Given the description of an element on the screen output the (x, y) to click on. 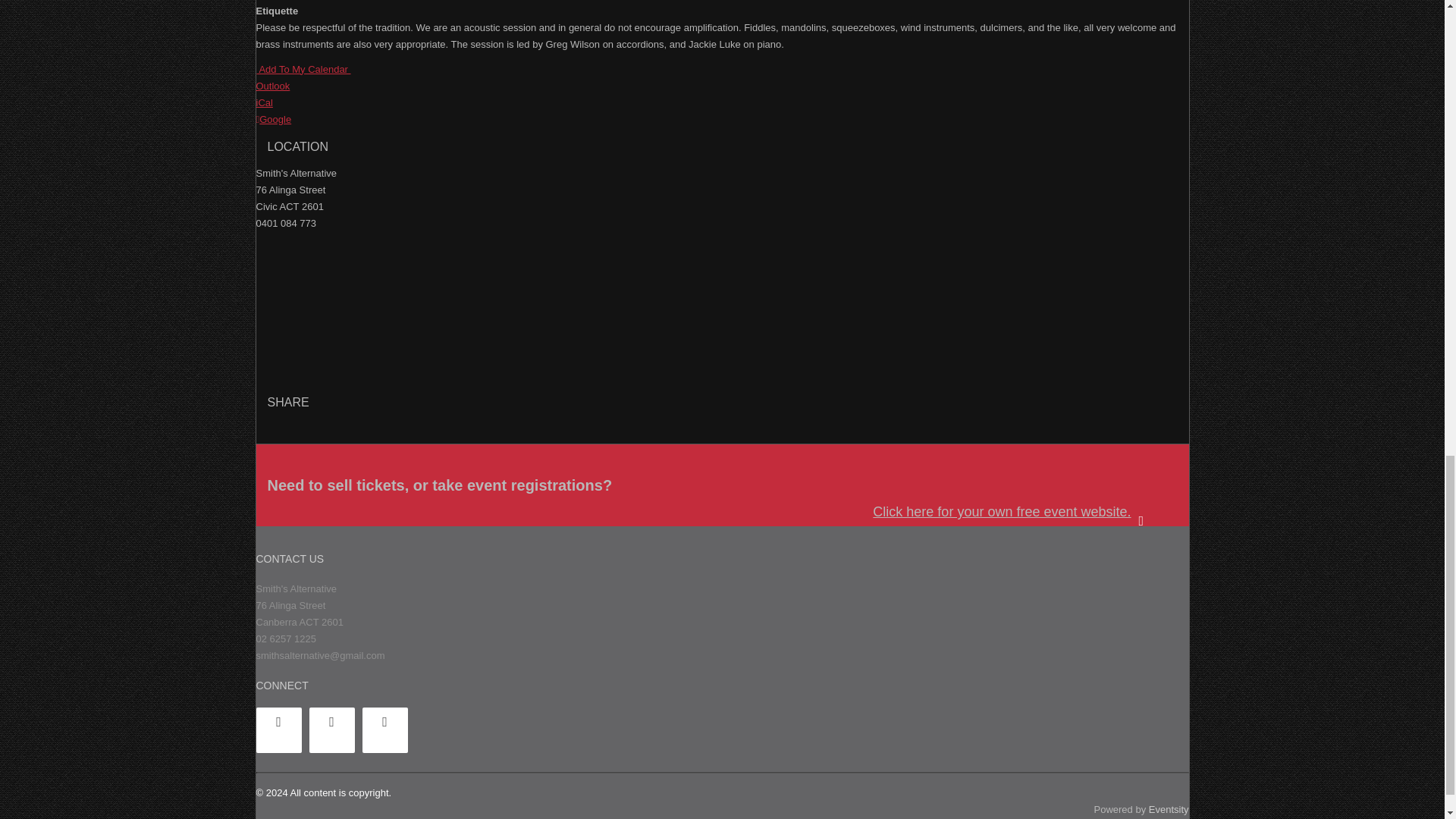
 Add To My Calendar  (304, 69)
Eventsity (1168, 808)
Outlook (272, 85)
Click here for your own free event website. (1018, 512)
Google (274, 119)
event ticketing (1018, 512)
iCal (264, 102)
